Given the description of an element on the screen output the (x, y) to click on. 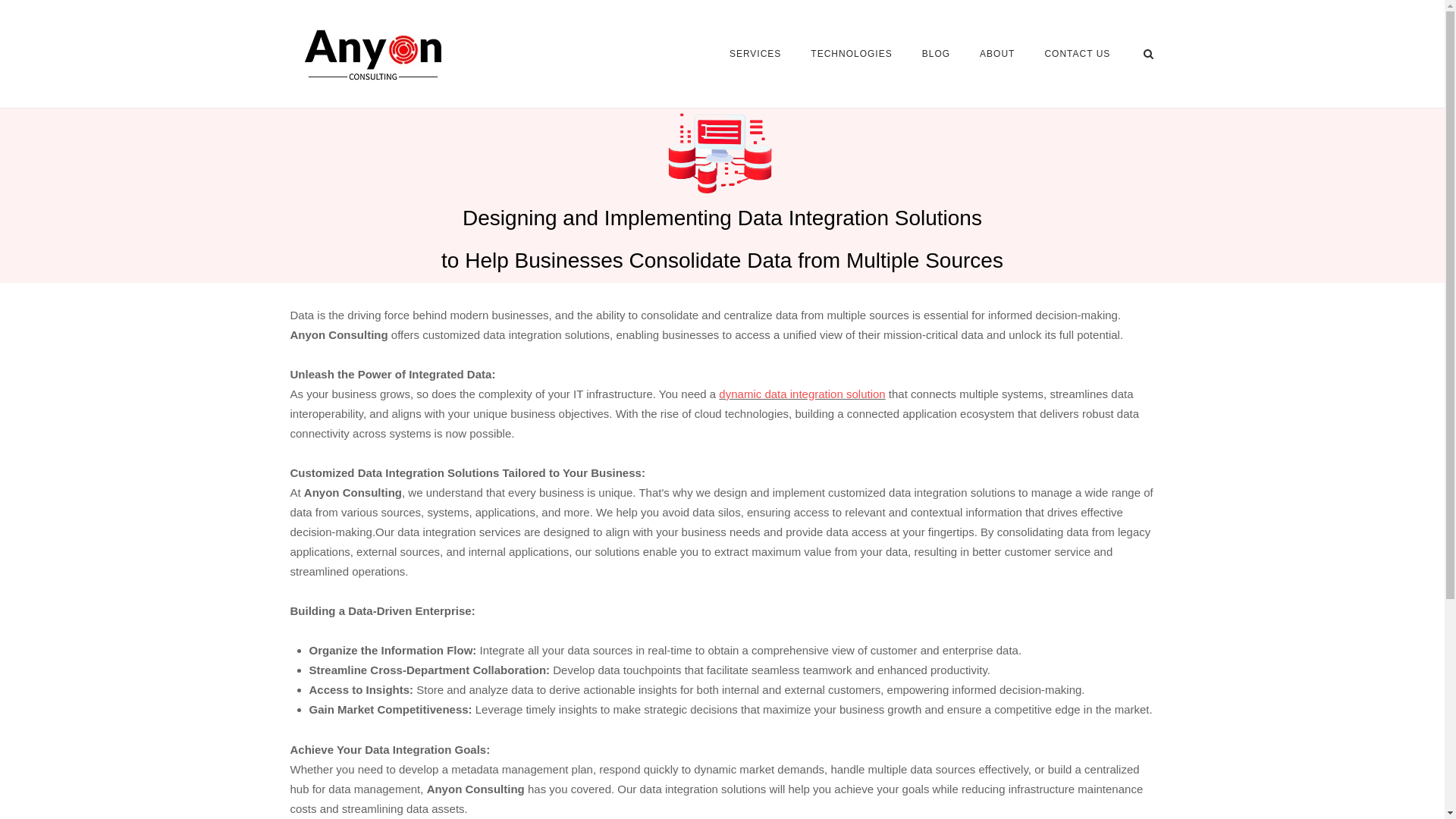
TECHNOLOGIES (850, 55)
SERVICES (754, 55)
dynamic data integration solution (802, 393)
CONTACT US (1076, 56)
BLOG (935, 56)
ABOUT (996, 55)
